Given the description of an element on the screen output the (x, y) to click on. 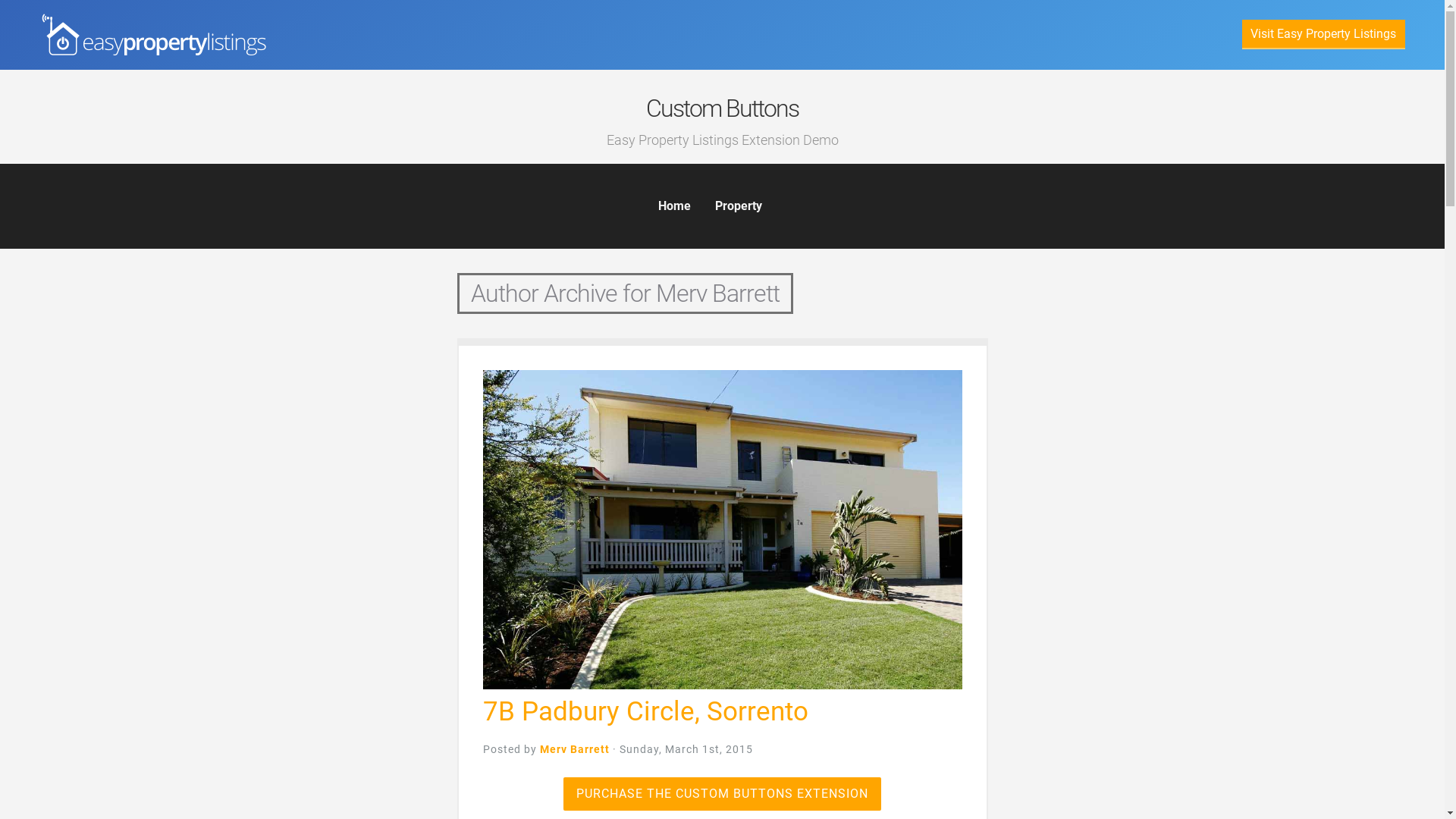
Home Element type: text (674, 206)
7B Padbury Circle, Sorrento Element type: text (644, 711)
Visit Easy Property Listings Element type: text (1323, 34)
Easy Property Listings Element type: hover (152, 34)
Merv Barrett Element type: text (574, 749)
Easy Property Listings Extension Demo Element type: text (722, 139)
Custom Buttons Element type: text (722, 108)
Property Element type: text (738, 206)
PURCHASE THE CUSTOM BUTTONS EXTENSION Element type: text (722, 793)
